Given the description of an element on the screen output the (x, y) to click on. 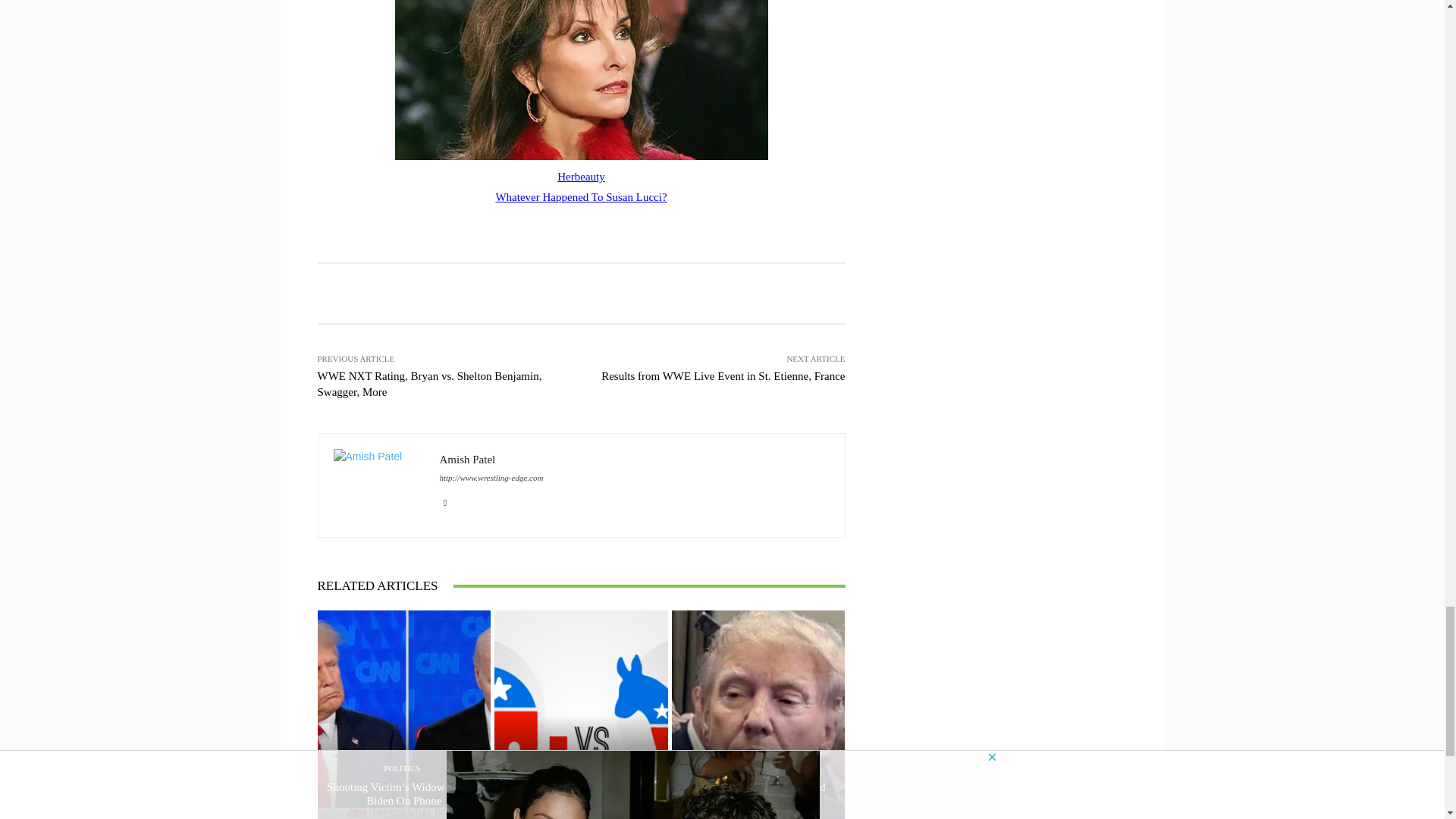
Amish Patel (379, 484)
